Given the description of an element on the screen output the (x, y) to click on. 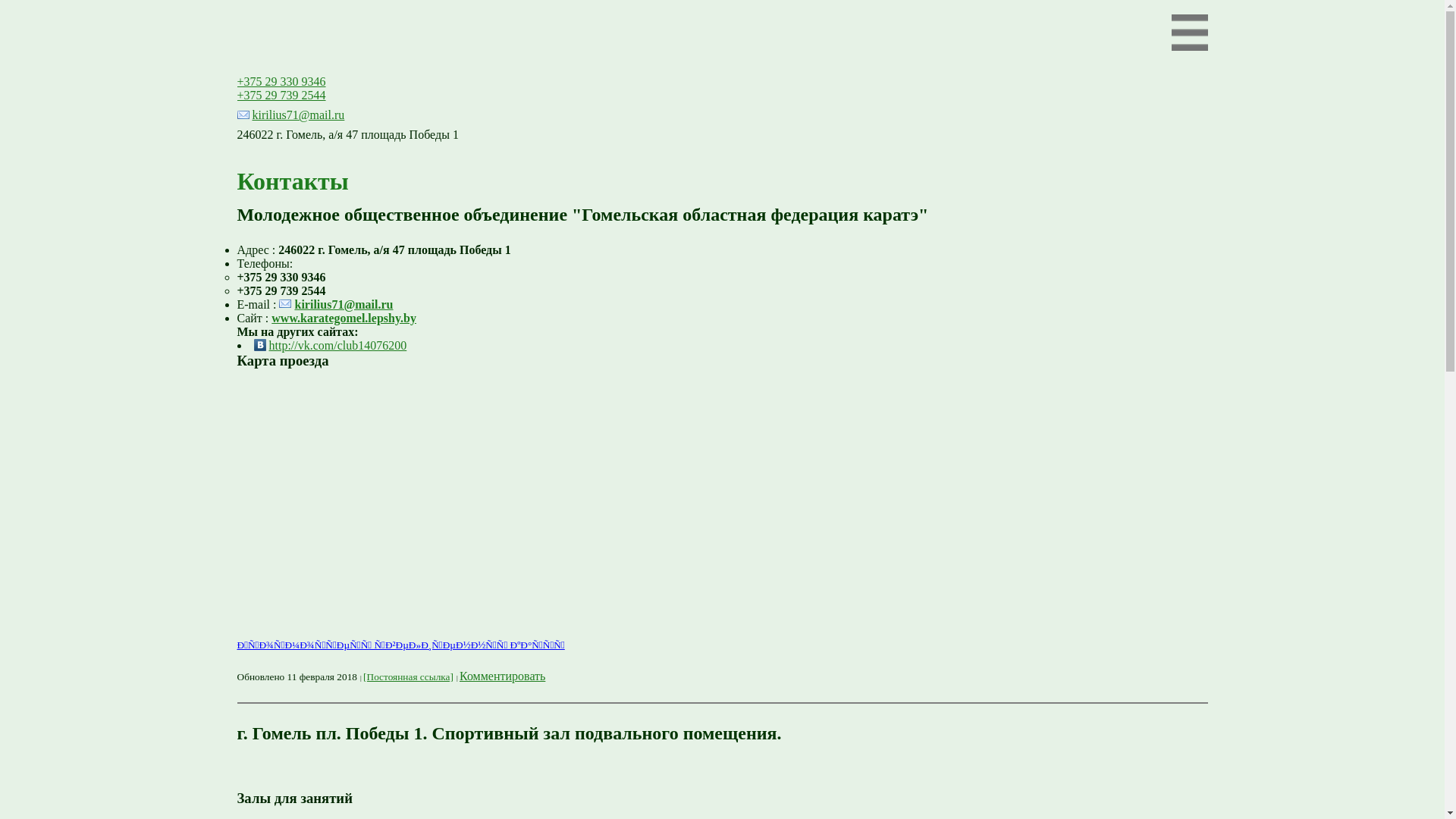
+375 29 739 2544 Element type: text (280, 94)
www.karategomel.lepshy.by Element type: text (343, 317)
+375 29 330 9346 Element type: text (280, 81)
kirilius71@mail.ru Element type: text (335, 304)
http://vk.com/club14076200 Element type: text (329, 345)
kirilius71@mail.ru Element type: text (290, 114)
